Given the description of an element on the screen output the (x, y) to click on. 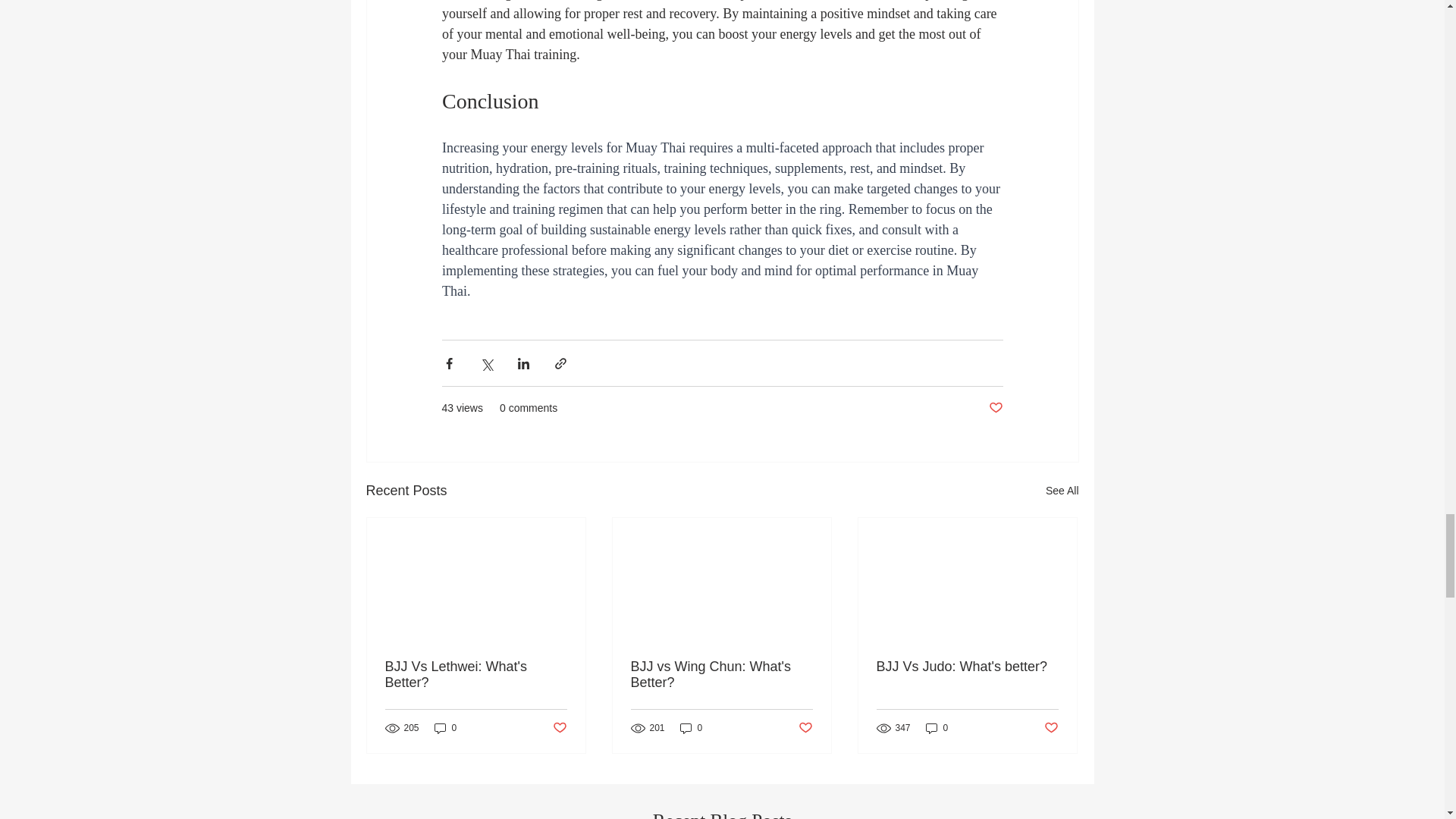
Post not marked as liked (558, 728)
0 (445, 727)
See All (1061, 490)
BJJ Vs Lethwei: What's Better? (476, 675)
BJJ vs Wing Chun: What's Better? (721, 675)
Post not marked as liked (995, 408)
